Given the description of an element on the screen output the (x, y) to click on. 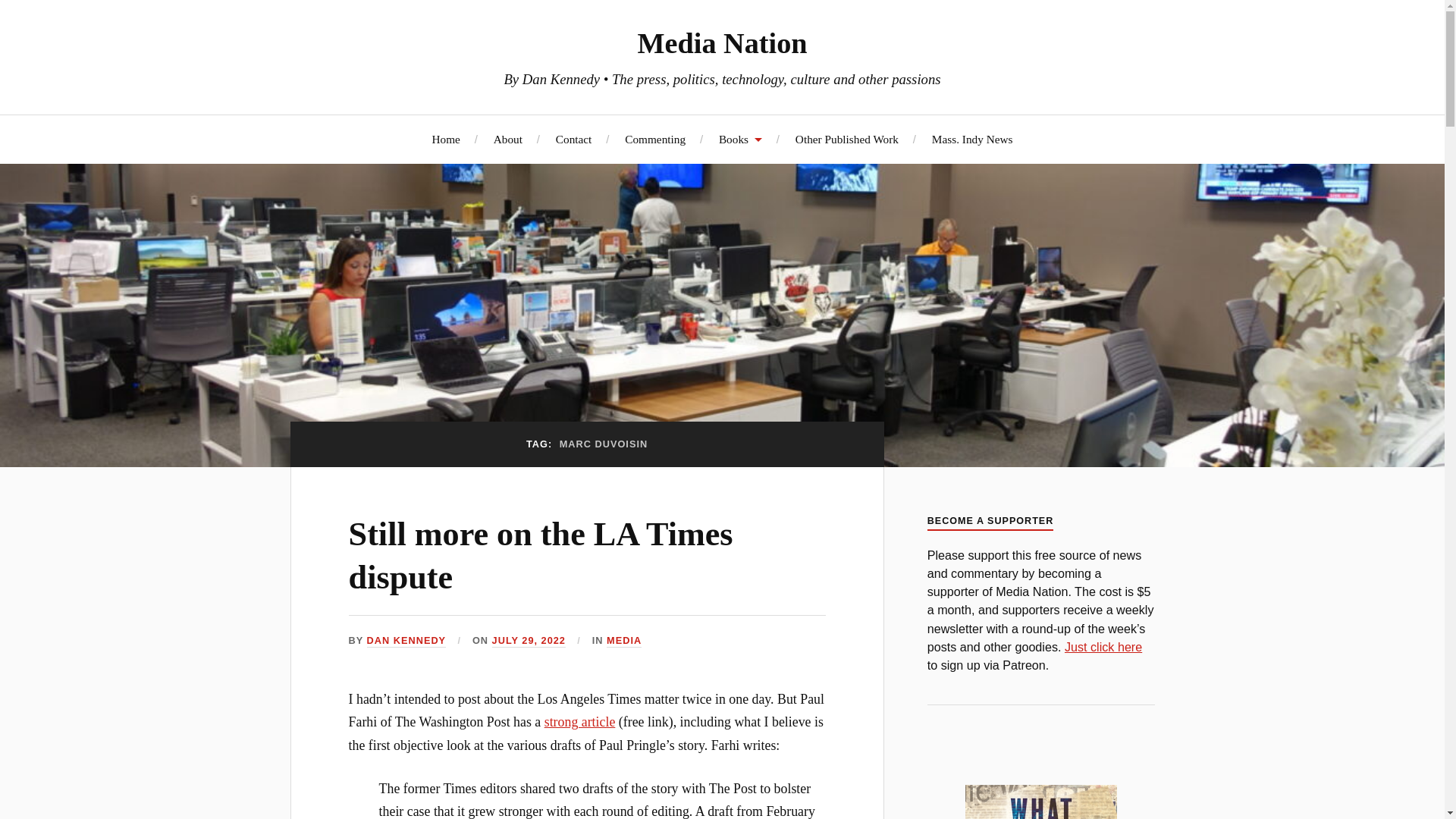
Media Nation (721, 42)
Still more on the LA Times dispute (541, 555)
Posts by Dan Kennedy (406, 640)
Books (740, 138)
Mass. Indy News (972, 138)
MEDIA (624, 640)
Other Published Work (846, 138)
strong article (579, 721)
DAN KENNEDY (406, 640)
Commenting (654, 138)
JULY 29, 2022 (529, 640)
